Given the description of an element on the screen output the (x, y) to click on. 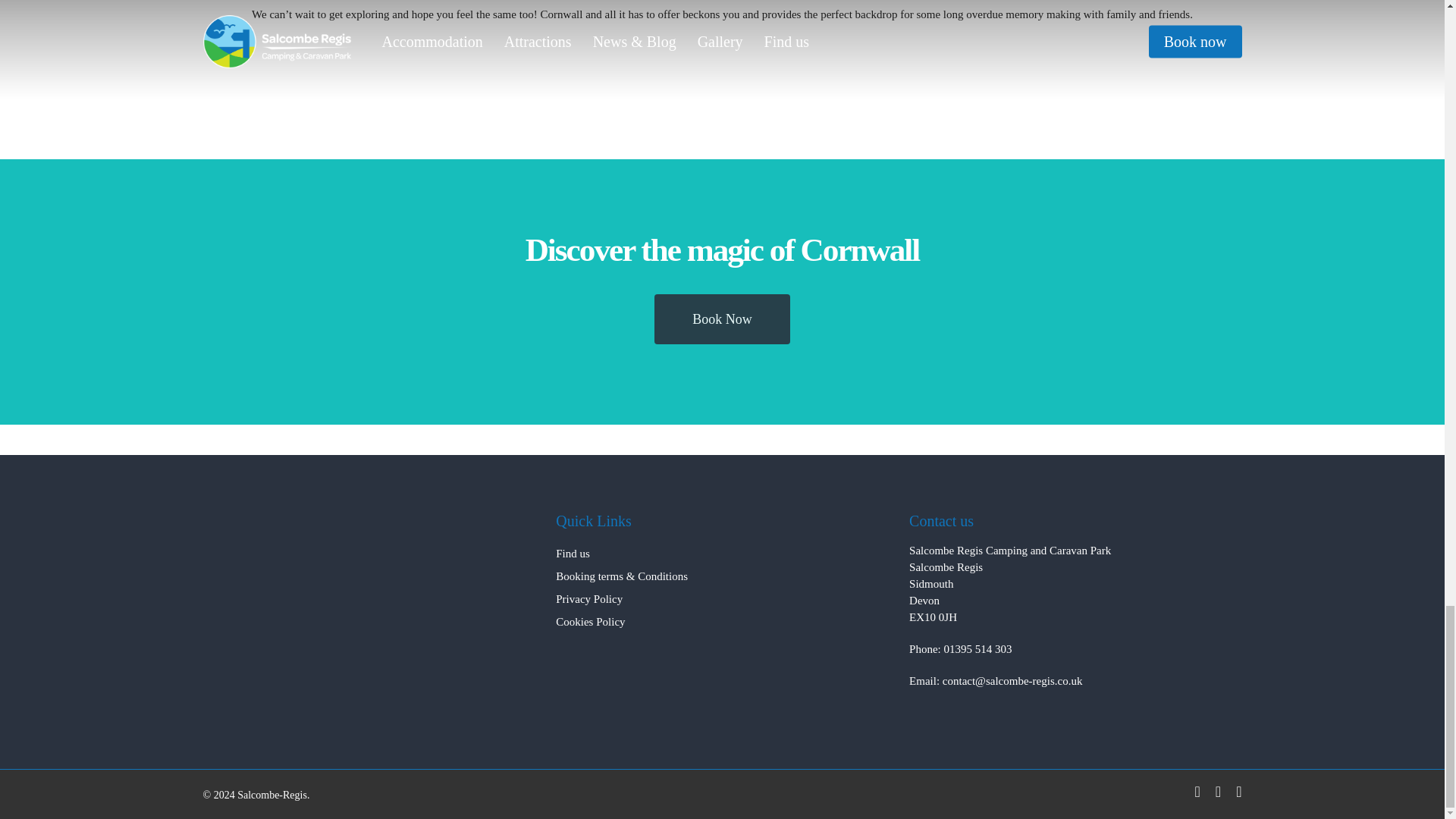
Privacy Policy (589, 598)
Cookies Policy (590, 621)
Find us (572, 553)
Book Now (721, 318)
01395 514 303 (977, 648)
